Given the description of an element on the screen output the (x, y) to click on. 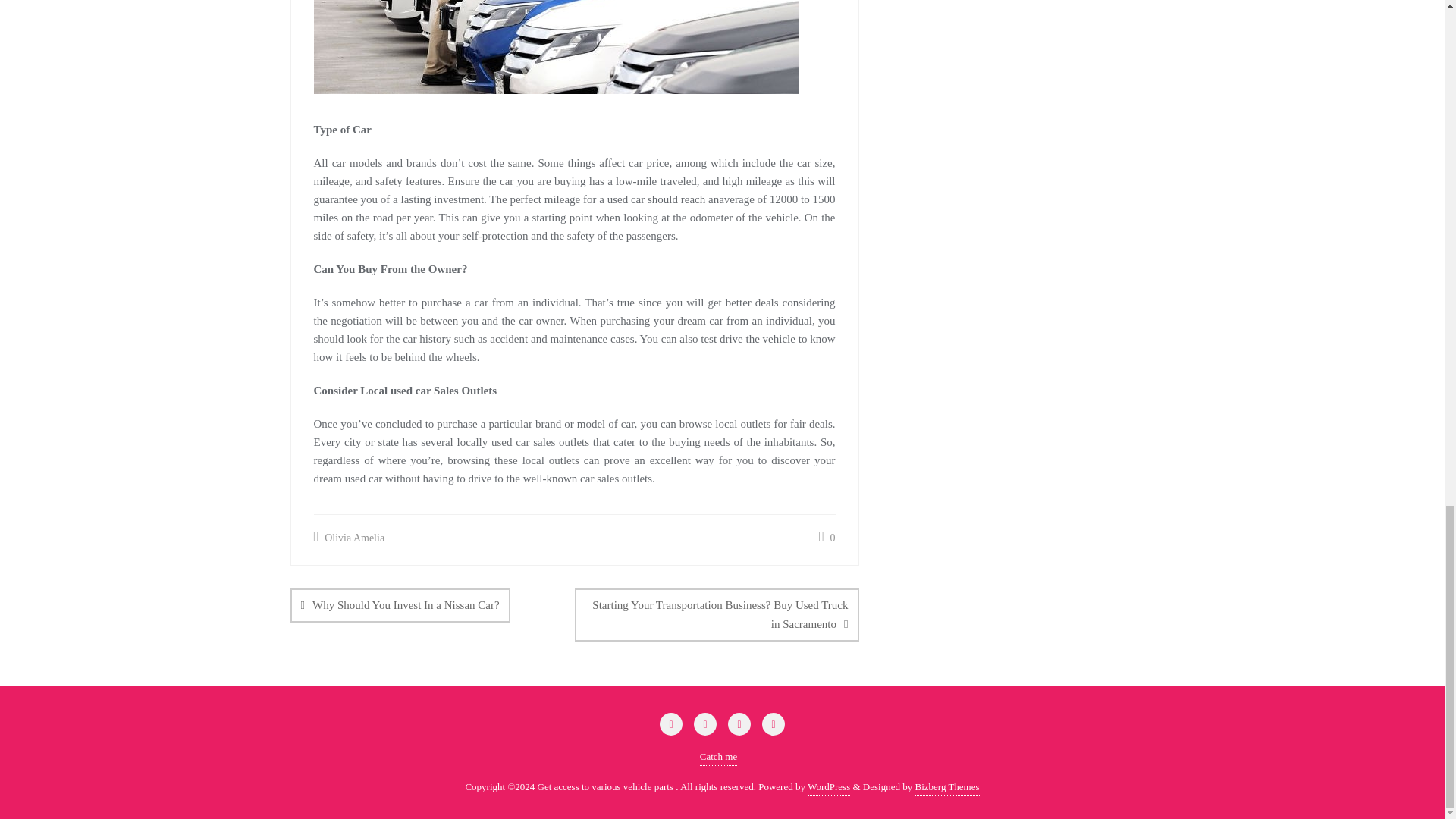
Why Should You Invest In a Nissan Car? (399, 605)
Catch me (718, 756)
Bizberg Themes (946, 787)
Olivia Amelia (349, 537)
WordPress (829, 787)
